Given the description of an element on the screen output the (x, y) to click on. 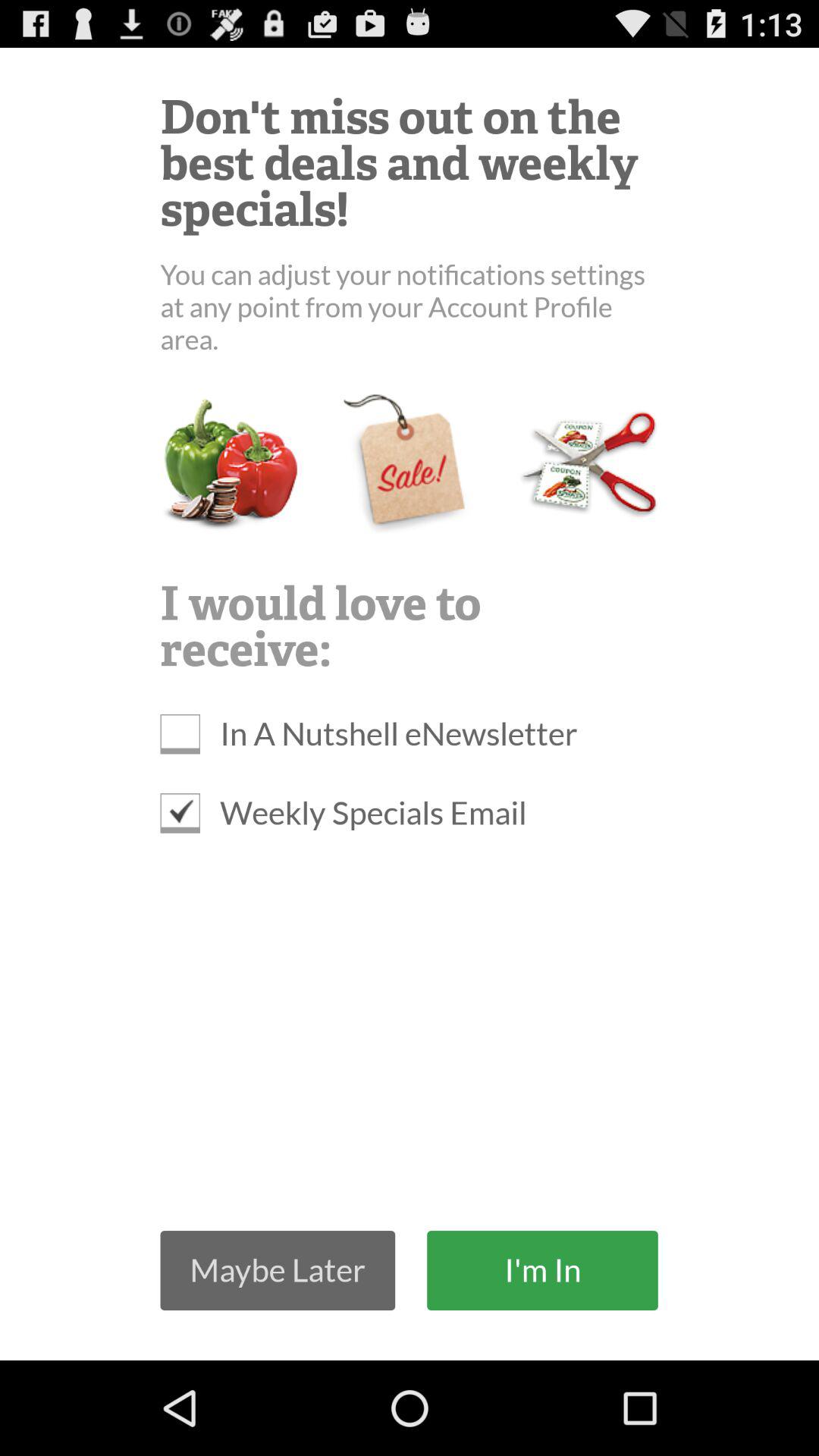
click the i'm in icon (542, 1270)
